Given the description of an element on the screen output the (x, y) to click on. 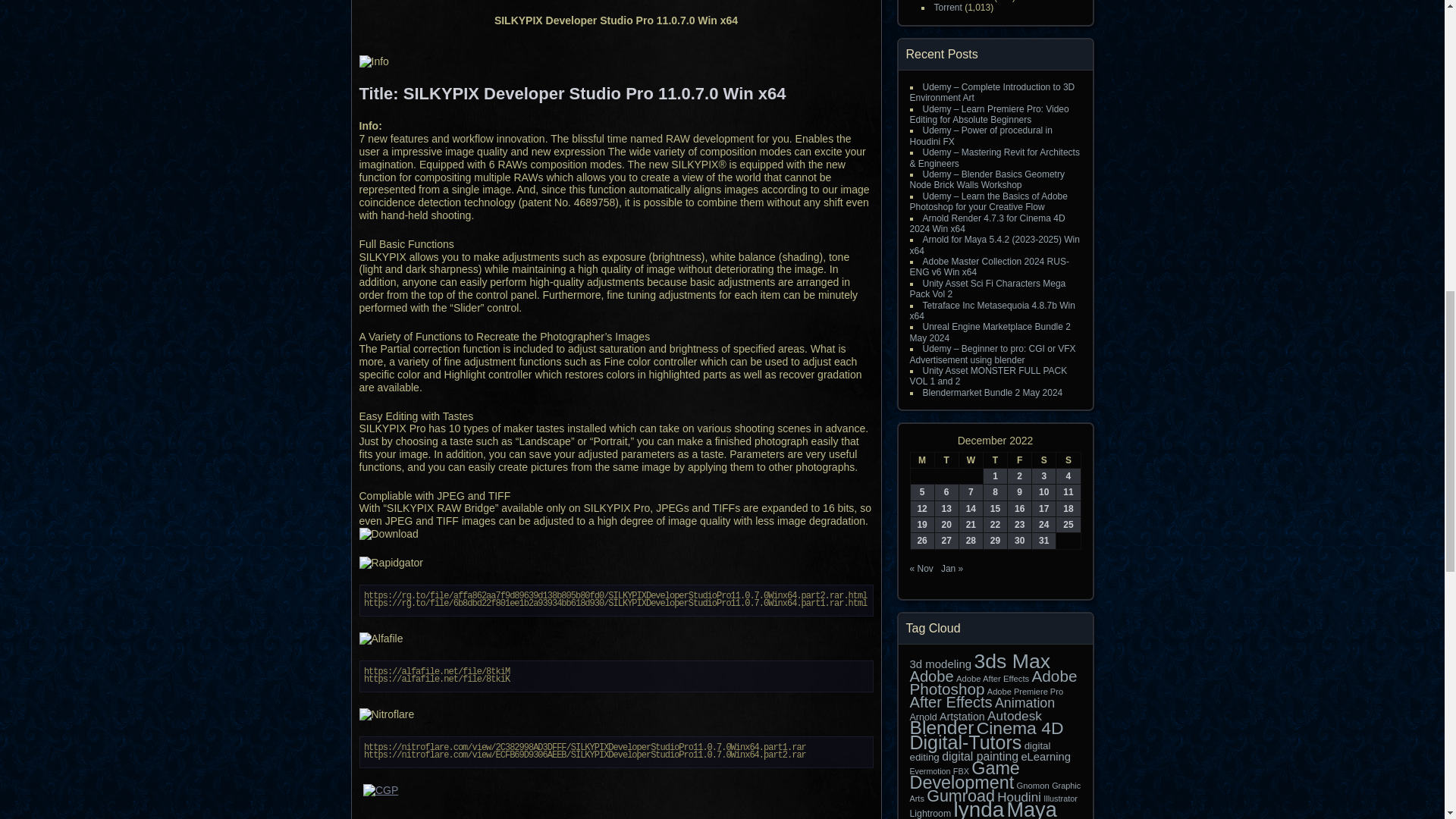
Monday (922, 459)
CGPersia (616, 797)
Wednesday (970, 459)
Tuesday (946, 459)
Thursday (994, 459)
